Given the description of an element on the screen output the (x, y) to click on. 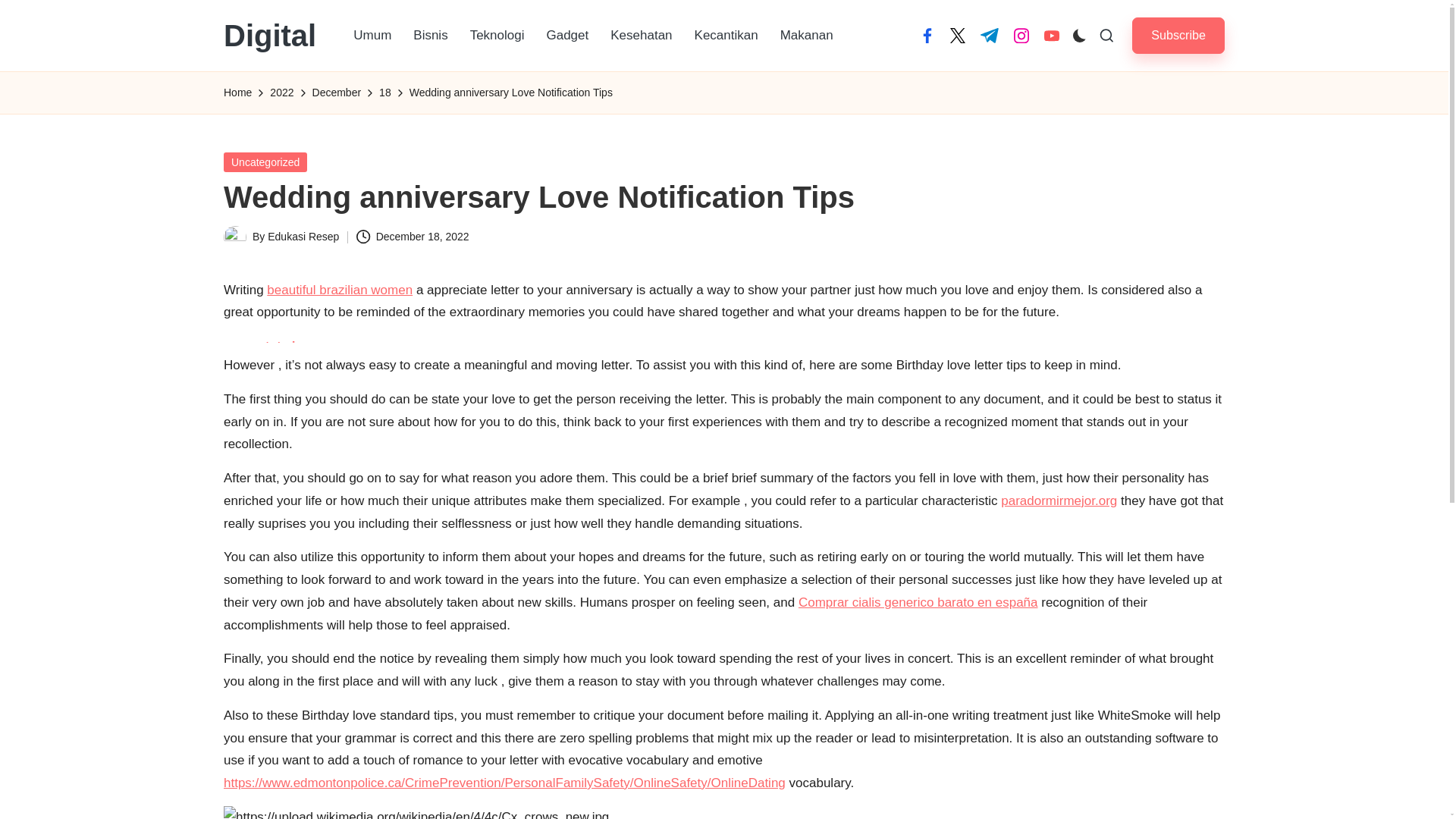
twitter.com (957, 35)
Uncategorized (265, 161)
Subscribe (1178, 35)
Kecantikan (726, 35)
Makanan (807, 35)
Kesehatan (640, 35)
Edukasi Resep (303, 236)
Gadget (566, 35)
Teknologi (497, 35)
t.me (989, 35)
2022 (281, 92)
Digital (269, 35)
December (337, 92)
Home (237, 92)
facebook.com (927, 35)
